Given the description of an element on the screen output the (x, y) to click on. 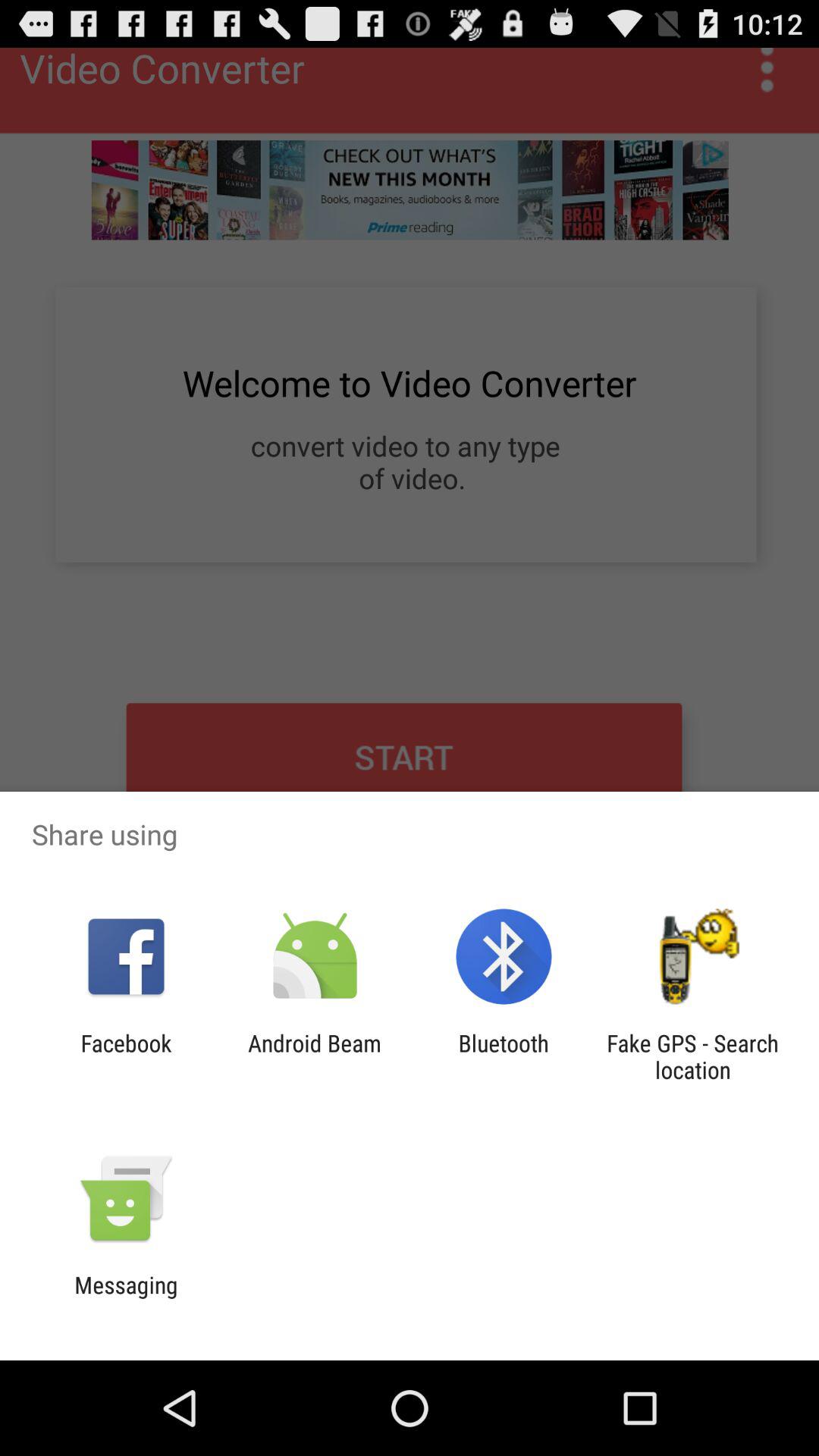
swipe to fake gps search app (692, 1056)
